Given the description of an element on the screen output the (x, y) to click on. 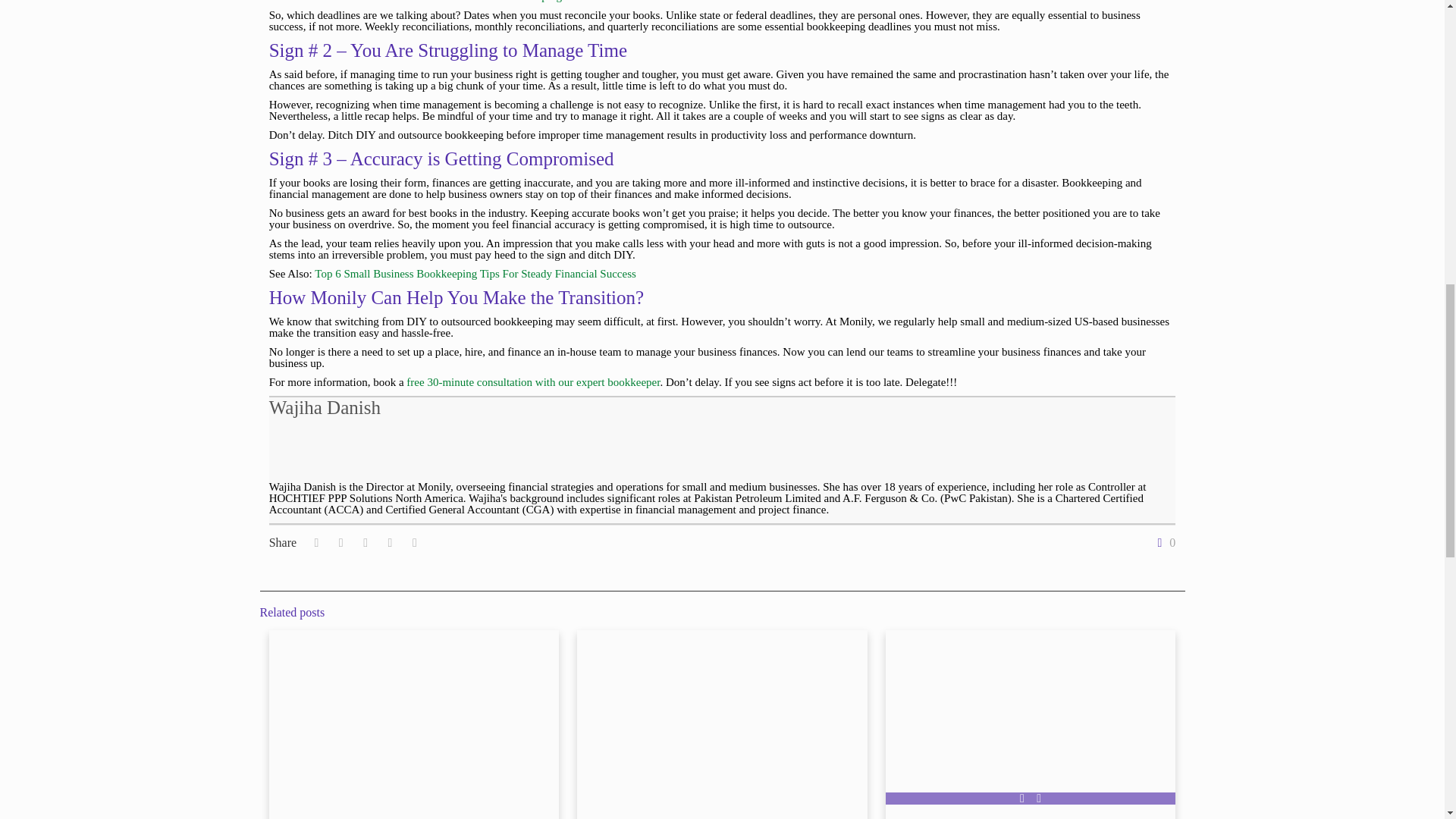
free 30-minute consultation with our expert bookkeeper (532, 381)
All posts by Wajiha Danish (324, 407)
0 (1162, 542)
Wajiha Danish (324, 407)
